Given the description of an element on the screen output the (x, y) to click on. 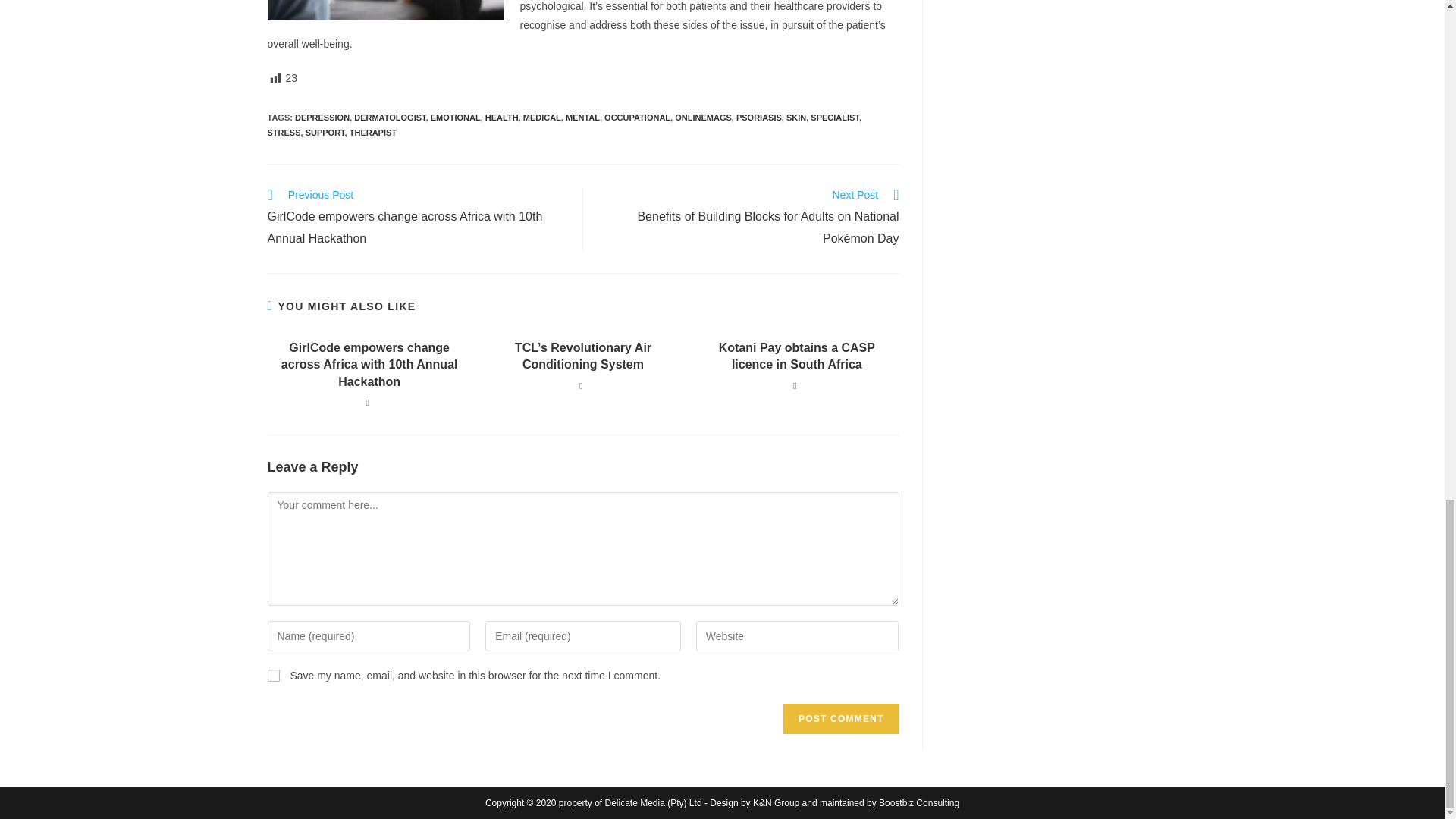
DERMATOLOGIST (389, 117)
yes (272, 675)
DEPRESSION (322, 117)
Post Comment (840, 718)
